Given the description of an element on the screen output the (x, y) to click on. 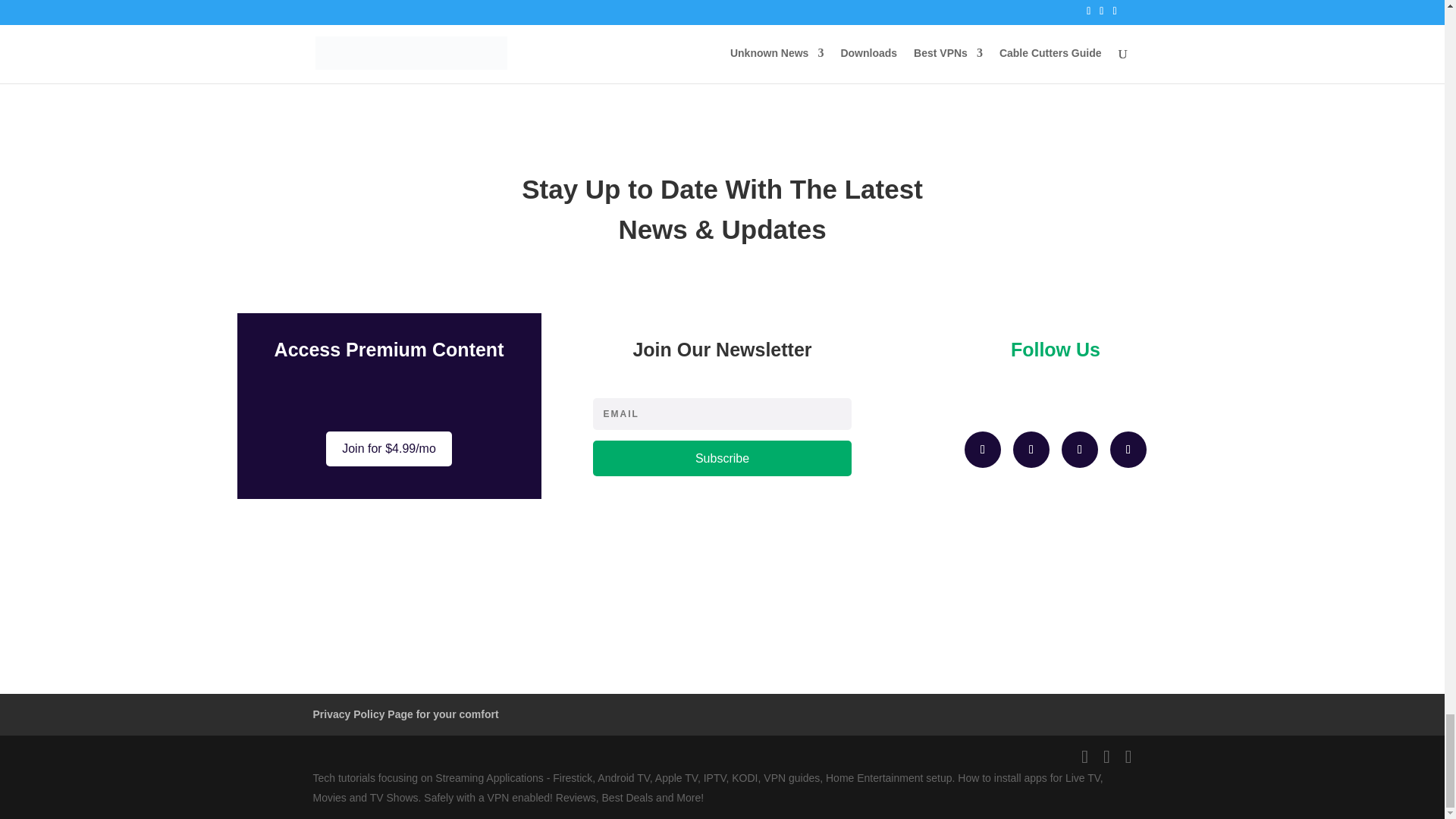
Subscribe (721, 457)
Follow on X (1079, 449)
Follow on Facebook (982, 449)
Follow on Youtube (1128, 449)
Privacy Policy Page for your comfort (405, 714)
Follow on Instagram (1031, 449)
